Given the description of an element on the screen output the (x, y) to click on. 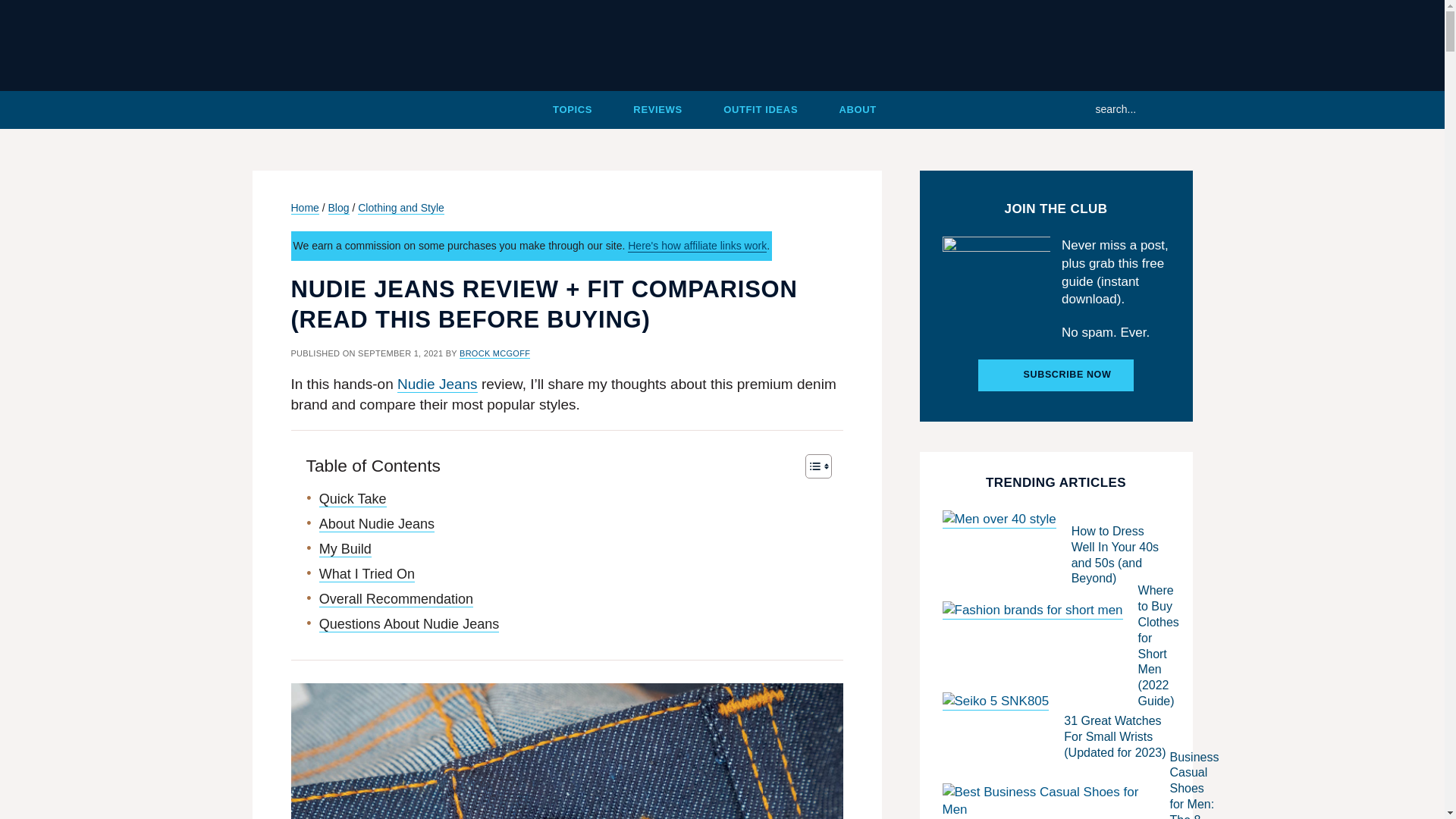
Overall Recommendation (395, 599)
What I Tried On (366, 574)
My Build (344, 549)
ABOUT (857, 109)
Here's how affiliate links work (697, 245)
About Nudie Jeans (375, 524)
TOPICS (572, 109)
Home (296, 109)
The Modest Man (722, 45)
OUTFIT IDEAS (760, 109)
